Given the description of an element on the screen output the (x, y) to click on. 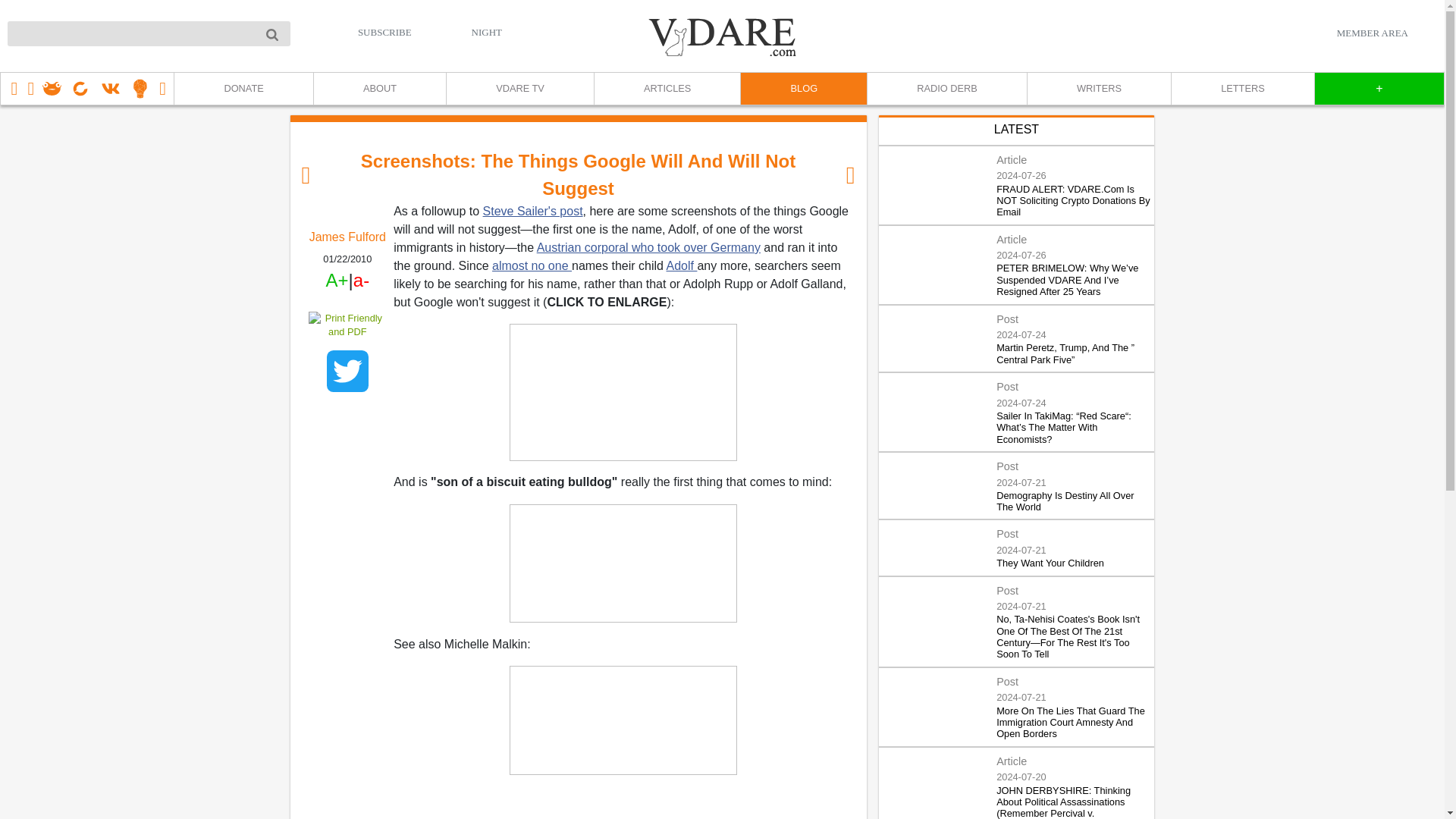
google-son-of-a (622, 563)
Printer Friendly and PDF (347, 324)
BLOG (802, 88)
ABOUT (379, 88)
RADIO DERB (946, 88)
MEMBER AREA (1371, 32)
LETTERS (1242, 88)
Share to Twitter (347, 371)
ARTICLES (666, 88)
WRITERS (1098, 88)
VDARE TV (519, 88)
google-malk (622, 719)
DONATE (243, 88)
google-adolf (622, 392)
Share to Email (347, 416)
